Given the description of an element on the screen output the (x, y) to click on. 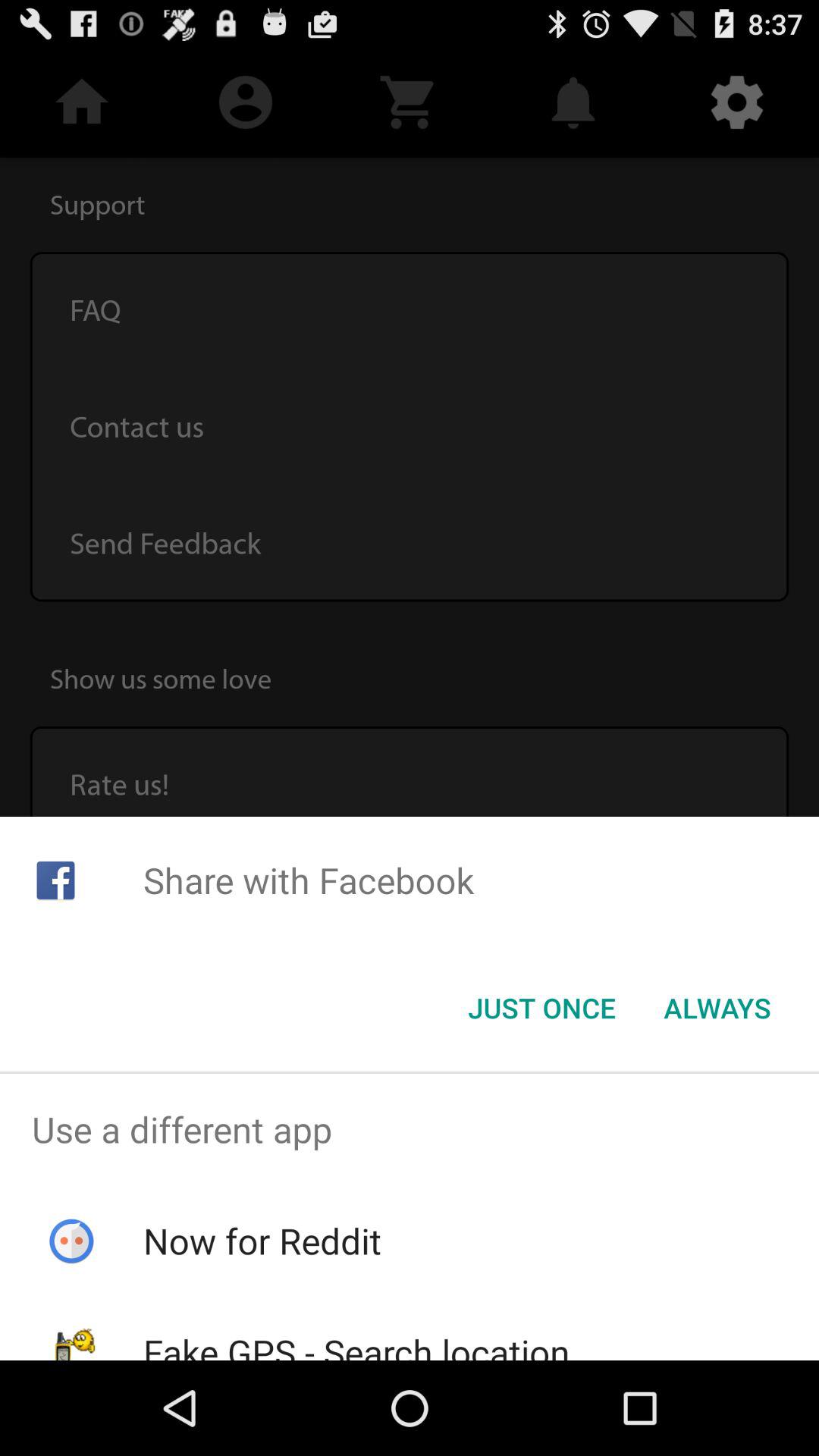
turn on item to the left of always (541, 1007)
